Given the description of an element on the screen output the (x, y) to click on. 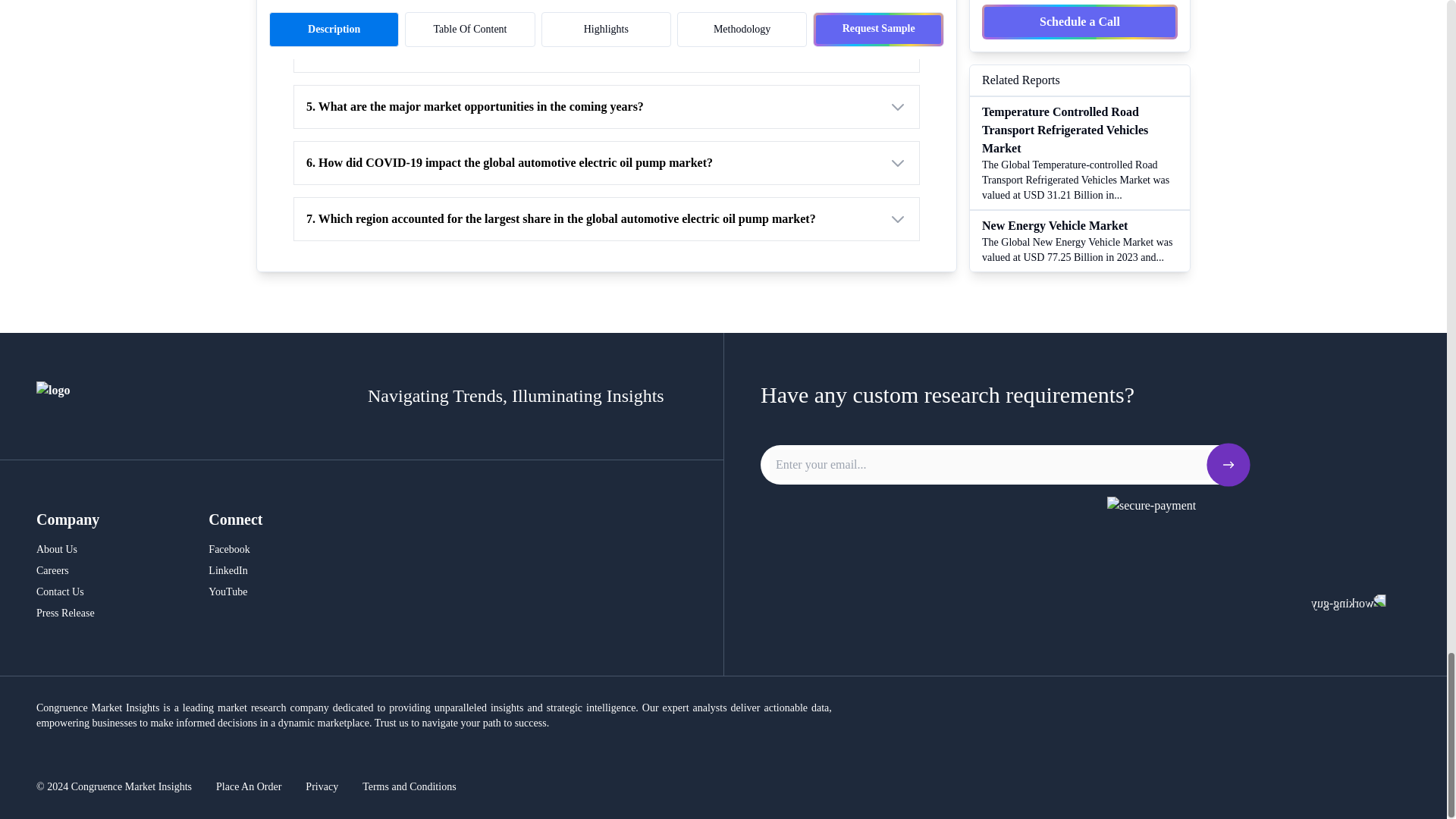
Careers (67, 570)
Press Release (67, 613)
YouTube (227, 591)
Facebook (228, 549)
About Us (67, 549)
Contact Us (67, 591)
